Given the description of an element on the screen output the (x, y) to click on. 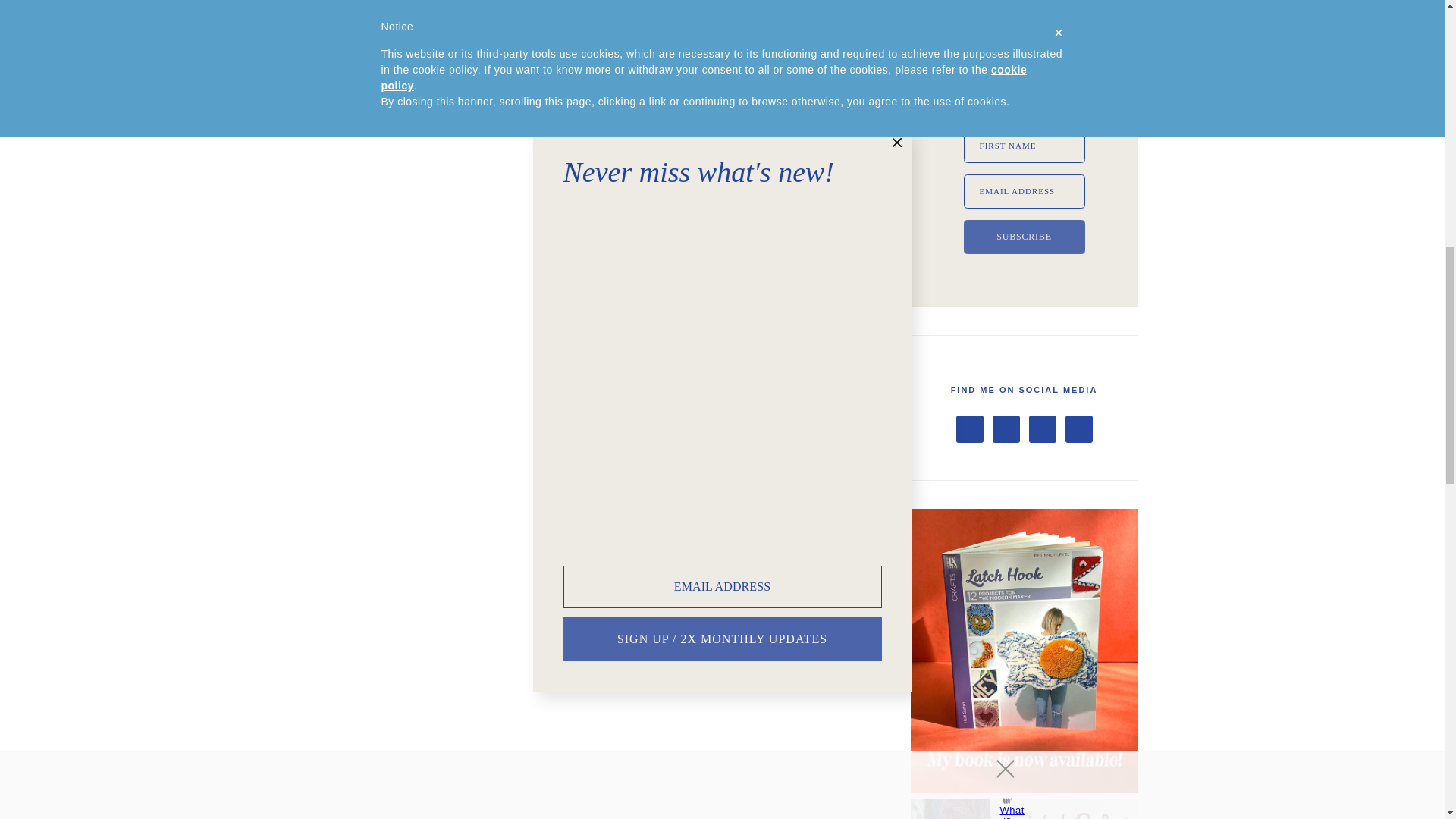
SUBSCRIBE (1023, 236)
